Given the description of an element on the screen output the (x, y) to click on. 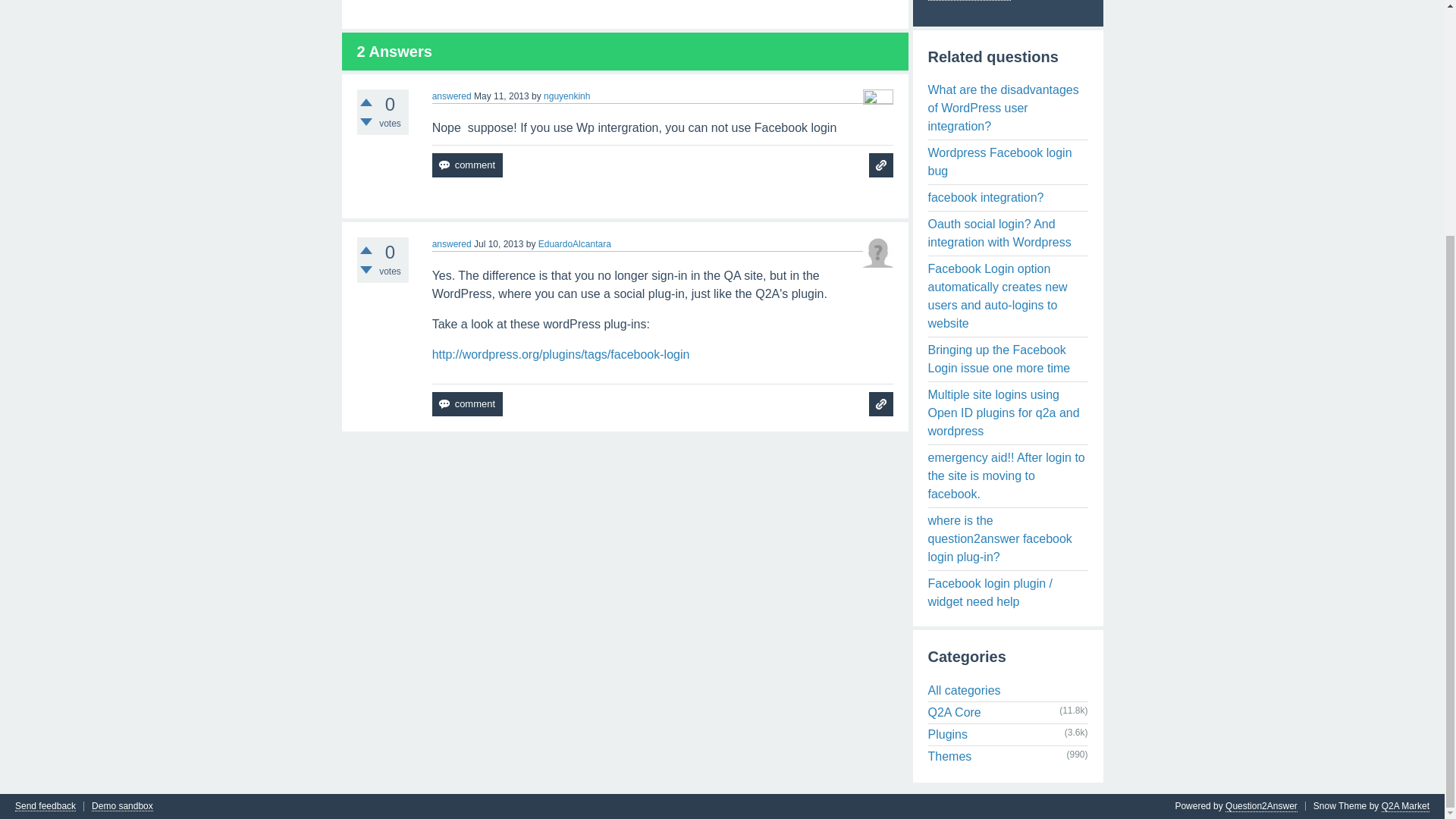
Questions about plugins created for Q2A. (948, 734)
nguyenkinh (566, 95)
Click to vote up (365, 249)
Add a comment on this answer (467, 165)
Click to vote down (365, 269)
Ask a new question relating to this answer (881, 404)
Questions about the Question2Answer platform. (954, 712)
ask related question (881, 404)
Click to vote down (365, 121)
comment (467, 165)
Questions about third-party themes. (950, 756)
Ask a new question relating to this answer (881, 165)
Add a comment on this answer (467, 404)
comment (467, 404)
answered (451, 95)
